Given the description of an element on the screen output the (x, y) to click on. 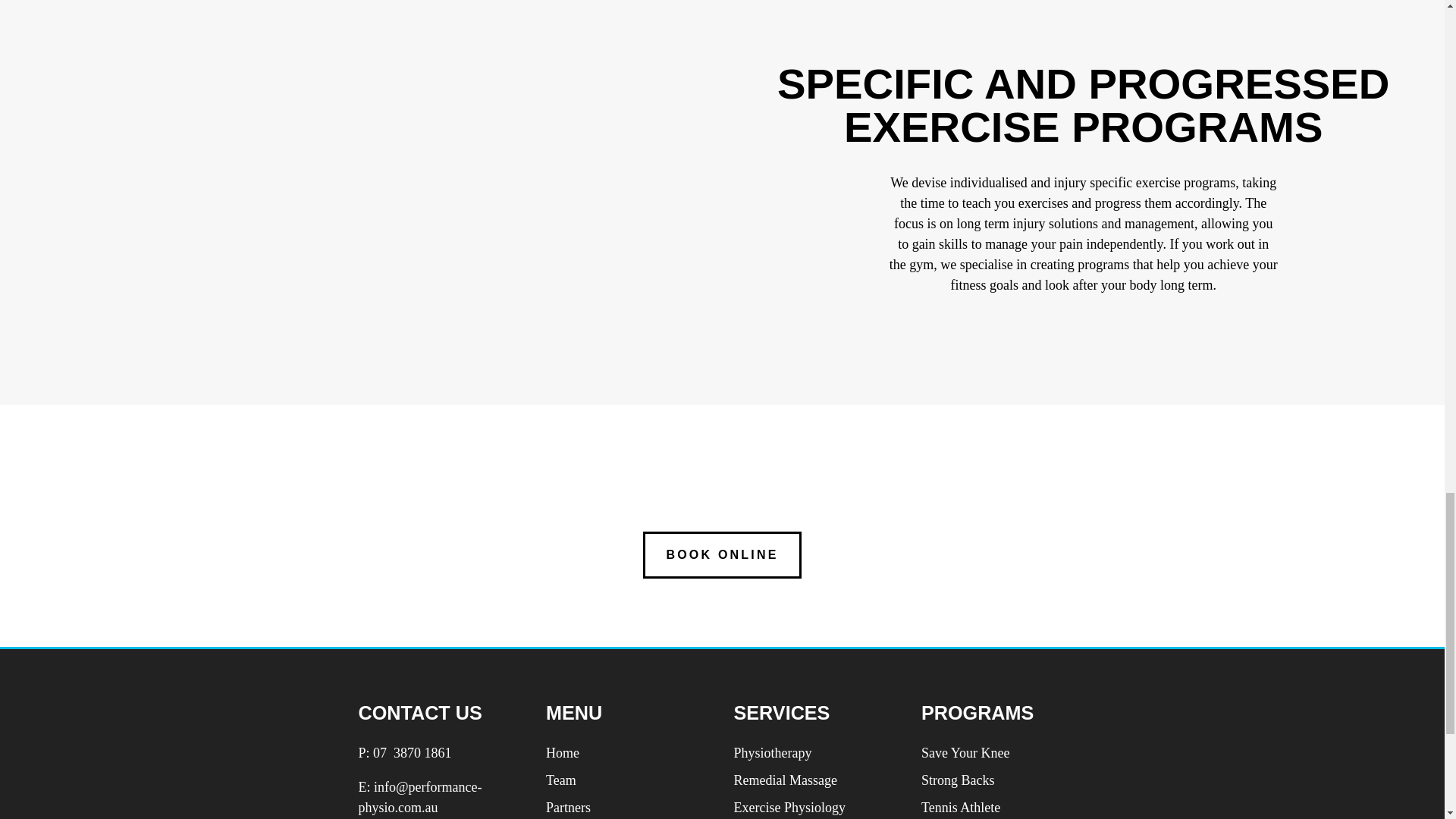
Home (562, 752)
P: 07  3870 1861 (404, 752)
BOOK ONLINE (721, 554)
Partners (568, 807)
Team (561, 780)
